Given the description of an element on the screen output the (x, y) to click on. 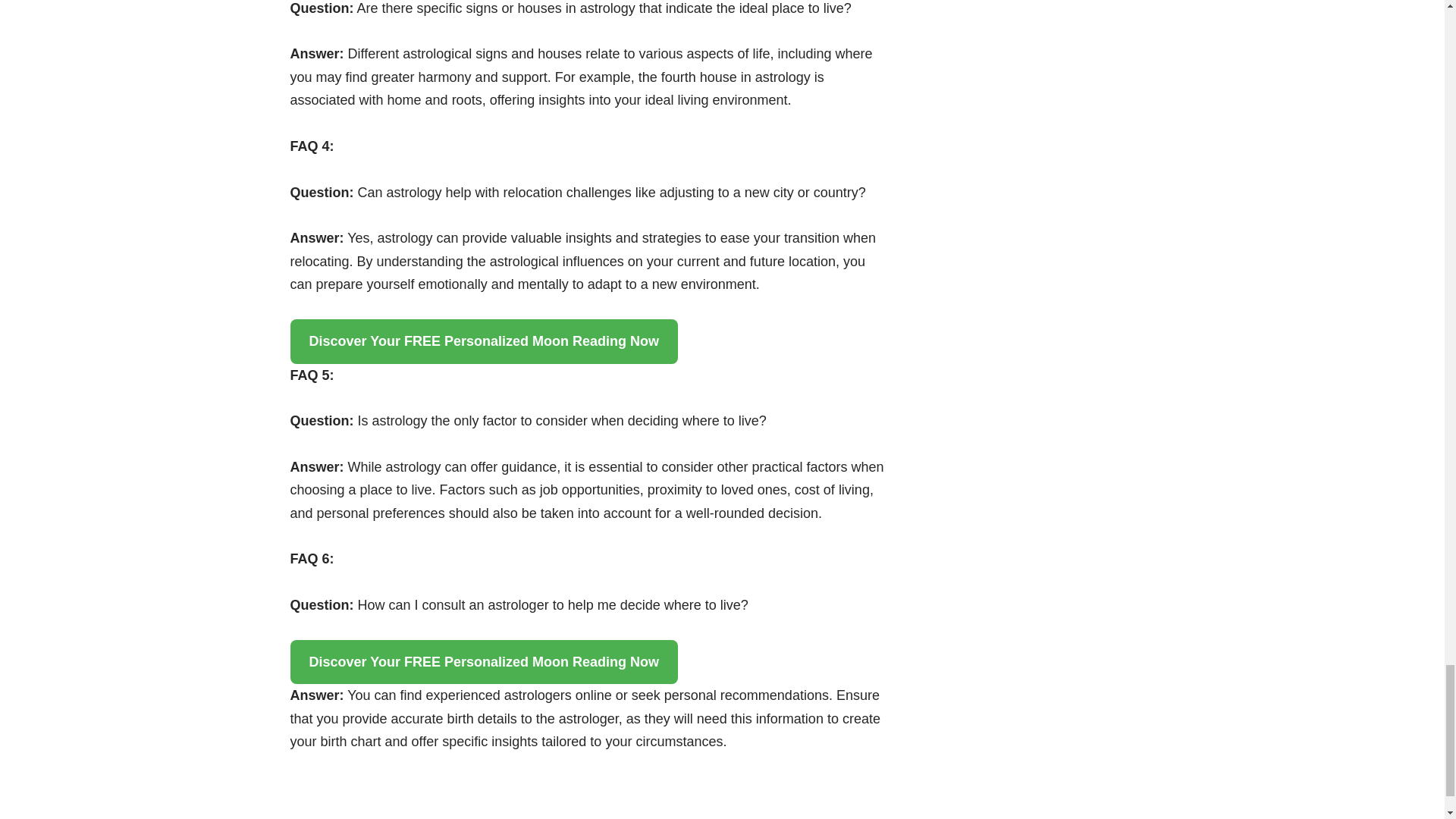
Discover Your FREE Personalized Moon Reading Now (483, 661)
Discover Your FREE Personalized Moon Reading Now (483, 341)
